Given the description of an element on the screen output the (x, y) to click on. 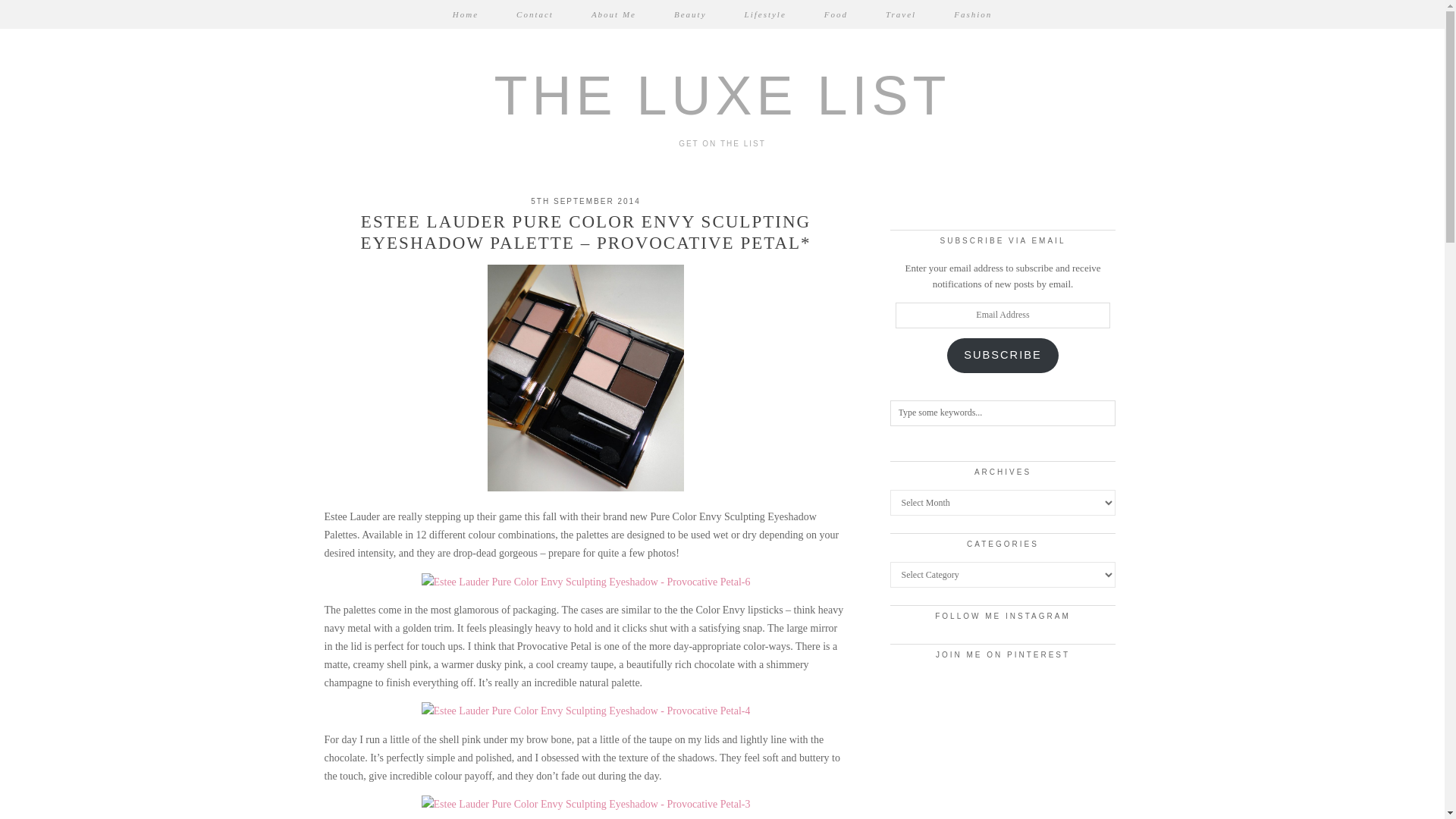
Beauty (690, 14)
The Luxe List (721, 95)
THE LUXE LIST (721, 95)
Lifestyle (765, 14)
Fashion (972, 14)
About Me (613, 14)
Travel (900, 14)
Food (835, 14)
Contact (534, 14)
Home (465, 14)
